Given the description of an element on the screen output the (x, y) to click on. 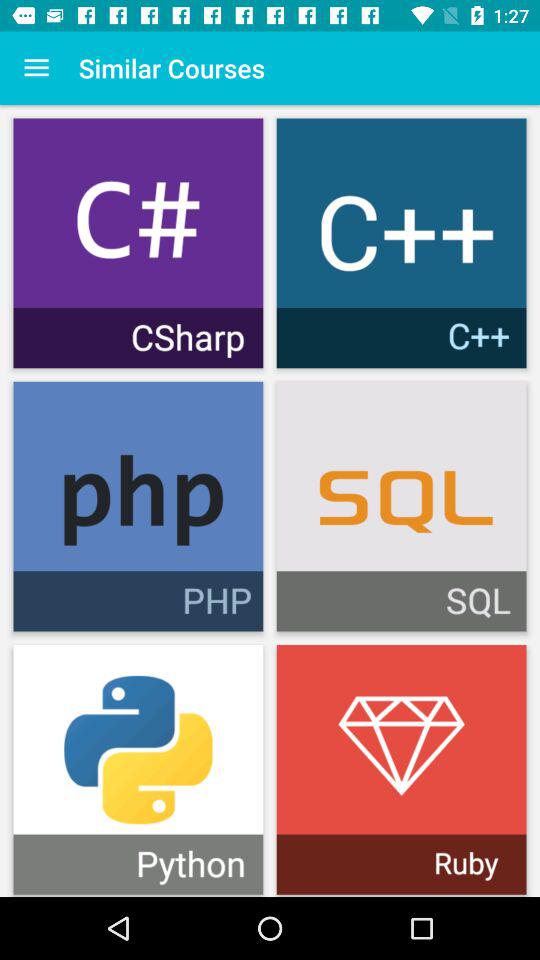
launch icon next to similar courses (36, 68)
